Given the description of an element on the screen output the (x, y) to click on. 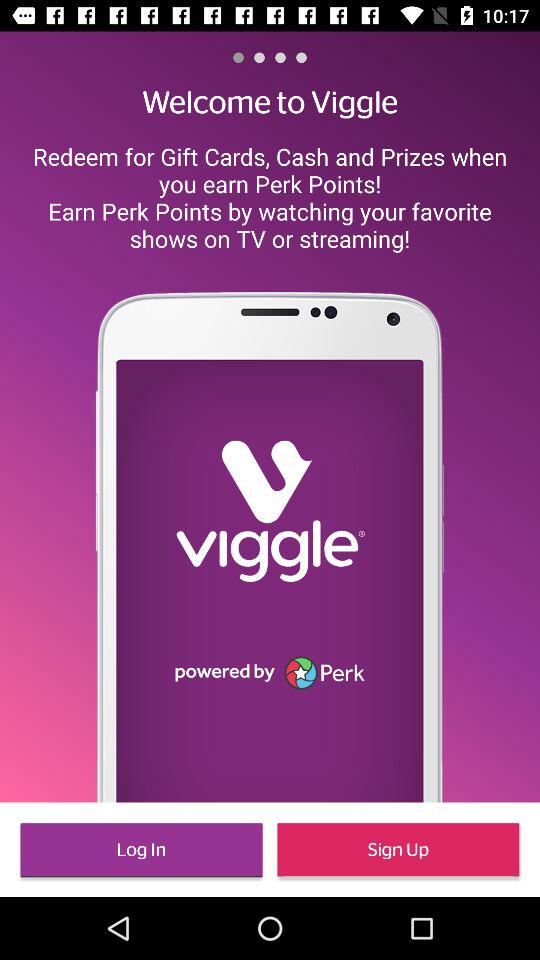
turn off the item above welcome to viggle (259, 57)
